Given the description of an element on the screen output the (x, y) to click on. 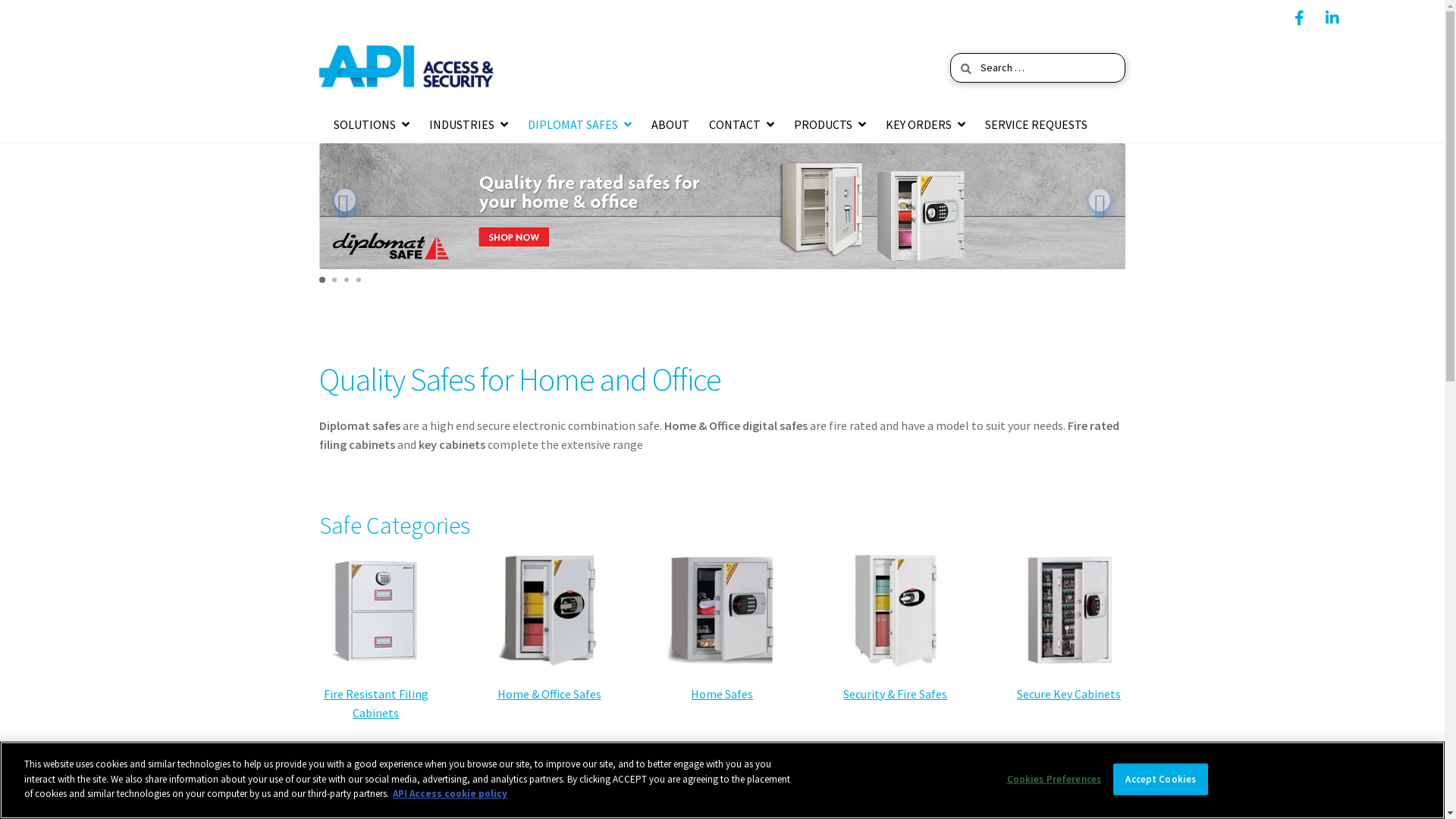
INDUSTRIES Element type: text (467, 124)
KEY ORDERS Element type: text (924, 124)
DIPLOMAT SAFES Element type: text (578, 124)
Home Safes Element type: text (721, 693)
CONTACT Element type: text (741, 124)
Search Element type: text (949, 52)
Fire Resistant Filing Cabinets Element type: text (375, 703)
Security & Fire Safes Element type: text (895, 693)
Skip to navigation Element type: text (318, 31)
Accept Cookies Element type: text (1160, 779)
SERVICE REQUESTS Element type: text (1036, 124)
API Access cookie policy Element type: text (449, 793)
ABOUT Element type: text (670, 124)
Home & Office Safes Element type: text (549, 693)
SOLUTIONS Element type: text (370, 124)
Secure Key Cabinets Element type: text (1068, 693)
Cookies Preferences Element type: text (1053, 779)
PRODUCTS Element type: text (829, 124)
